Given the description of an element on the screen output the (x, y) to click on. 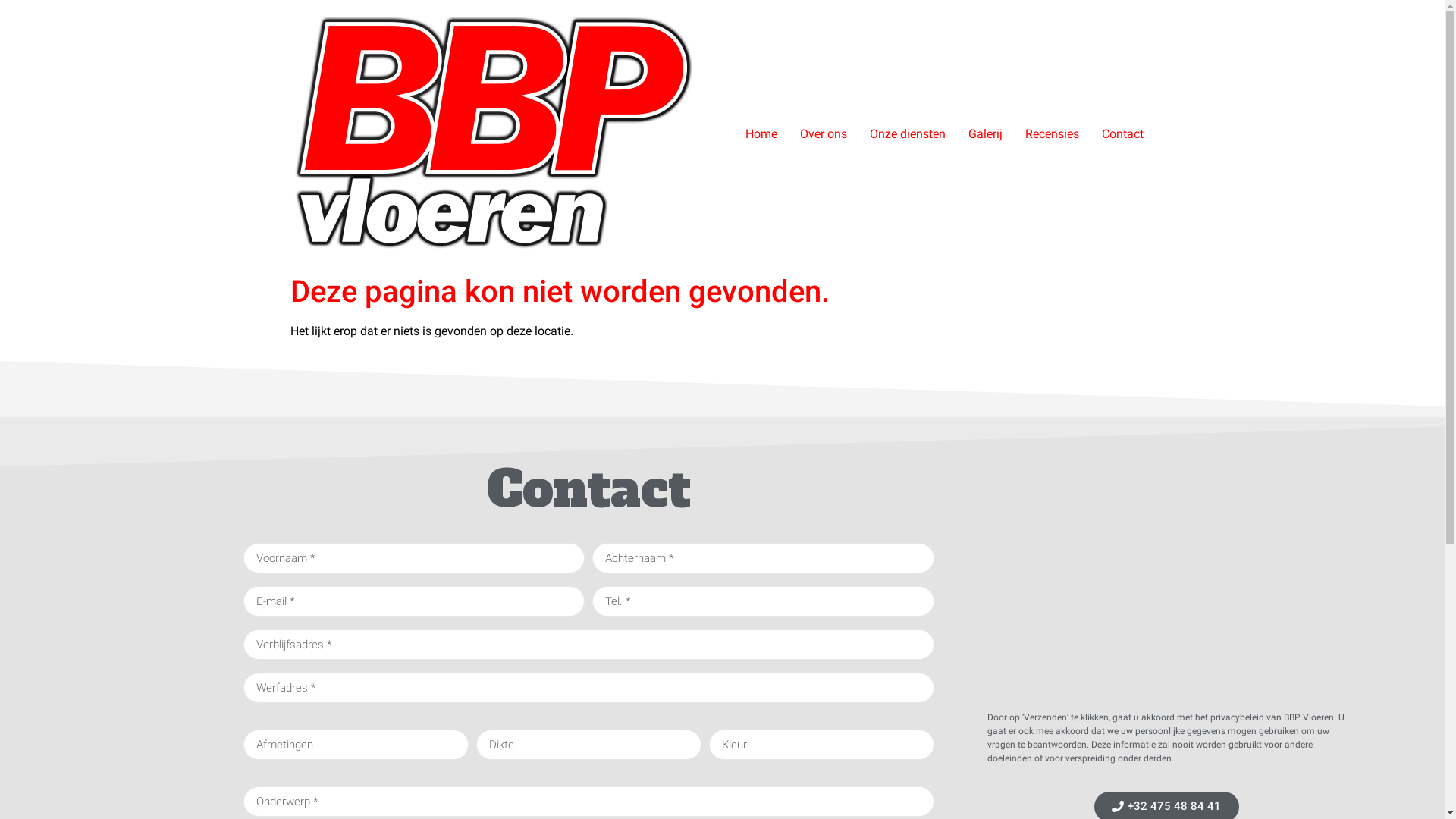
Contact Element type: text (1122, 133)
Recensies Element type: text (1051, 133)
Galerij Element type: text (985, 133)
Home Element type: text (761, 133)
Over ons Element type: text (823, 133)
Onze diensten Element type: text (907, 133)
